Given the description of an element on the screen output the (x, y) to click on. 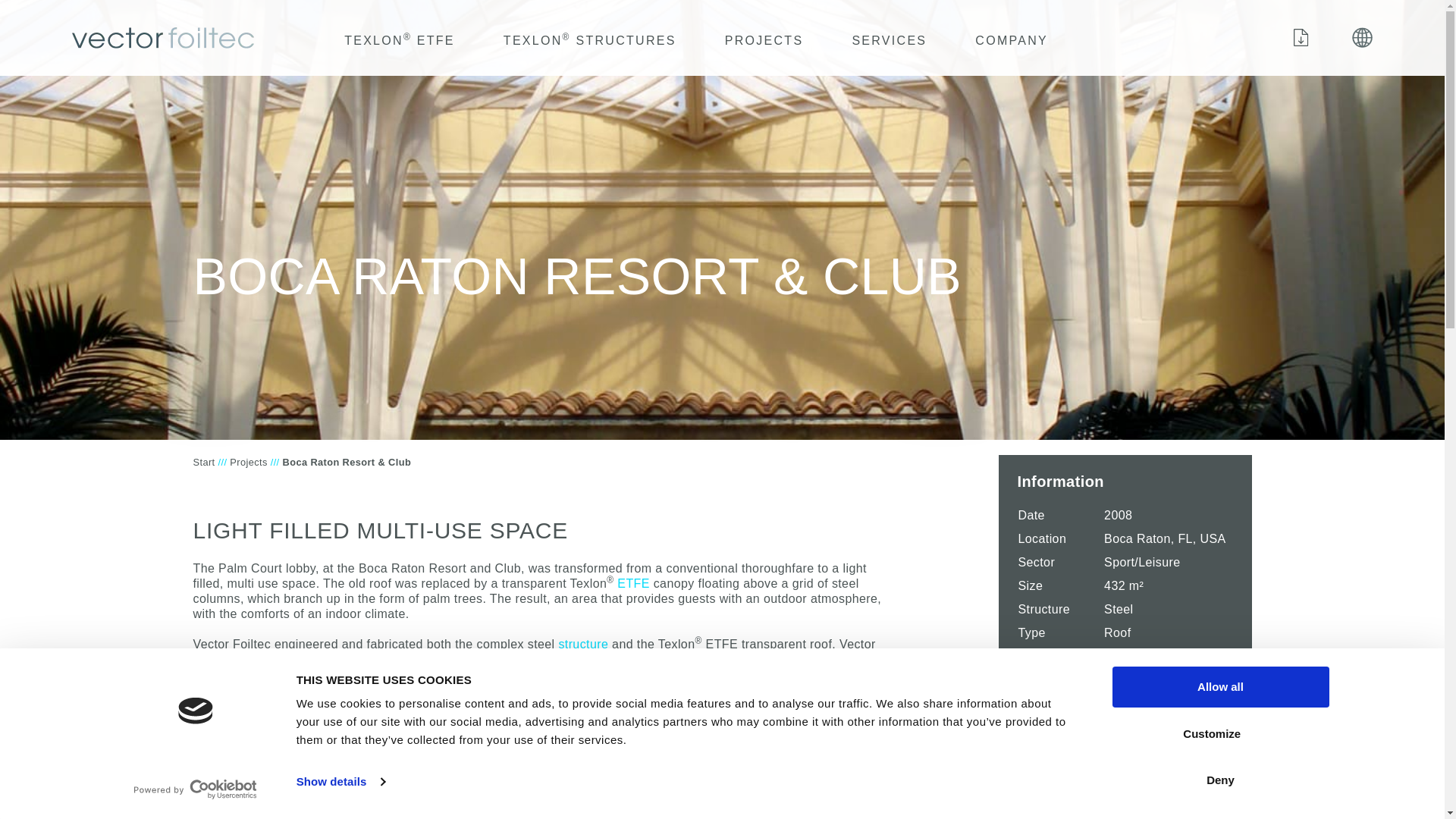
Services (888, 37)
Show details (340, 781)
Projects (764, 37)
